Given the description of an element on the screen output the (x, y) to click on. 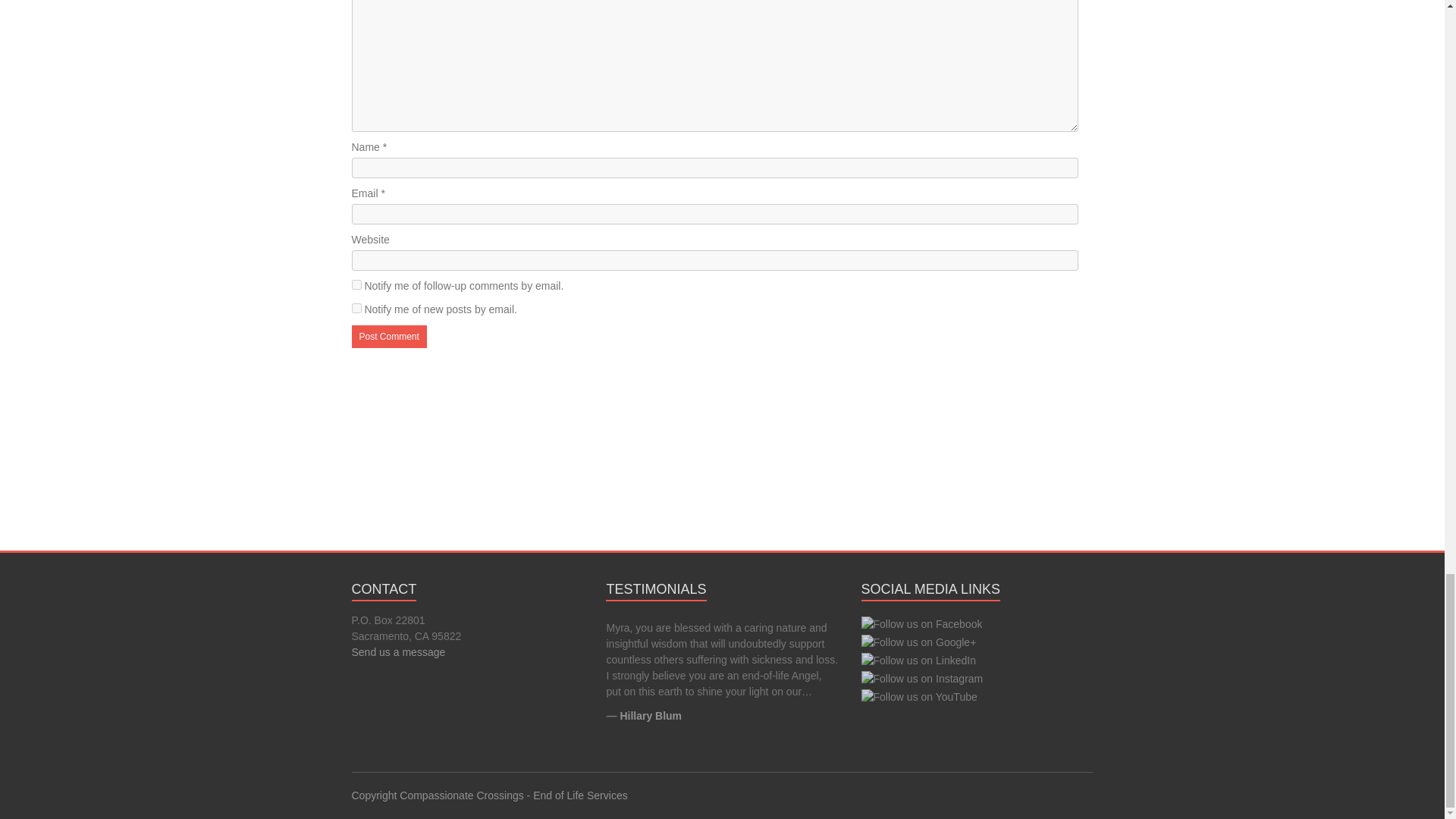
Post Comment (389, 336)
Post Comment (389, 336)
subscribe (356, 307)
subscribe (356, 284)
